Given the description of an element on the screen output the (x, y) to click on. 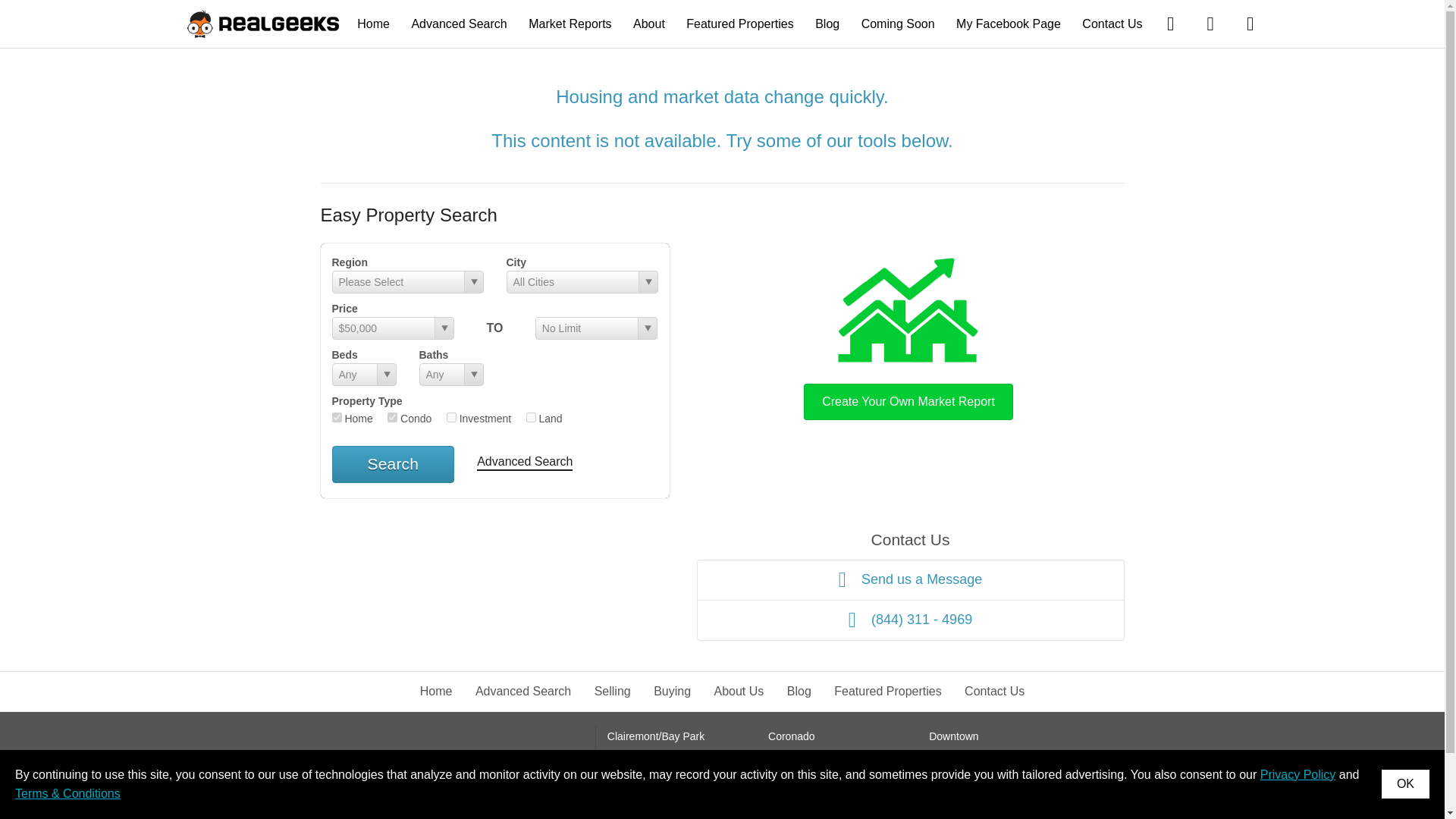
Downtown (953, 736)
Featured Properties (739, 23)
Featured Properties (887, 690)
Advanced Search (523, 690)
Market Reports (569, 23)
Coronado (791, 736)
About Us (739, 690)
Contact Us (994, 690)
About (649, 23)
mul (451, 417)
